Given the description of an element on the screen output the (x, y) to click on. 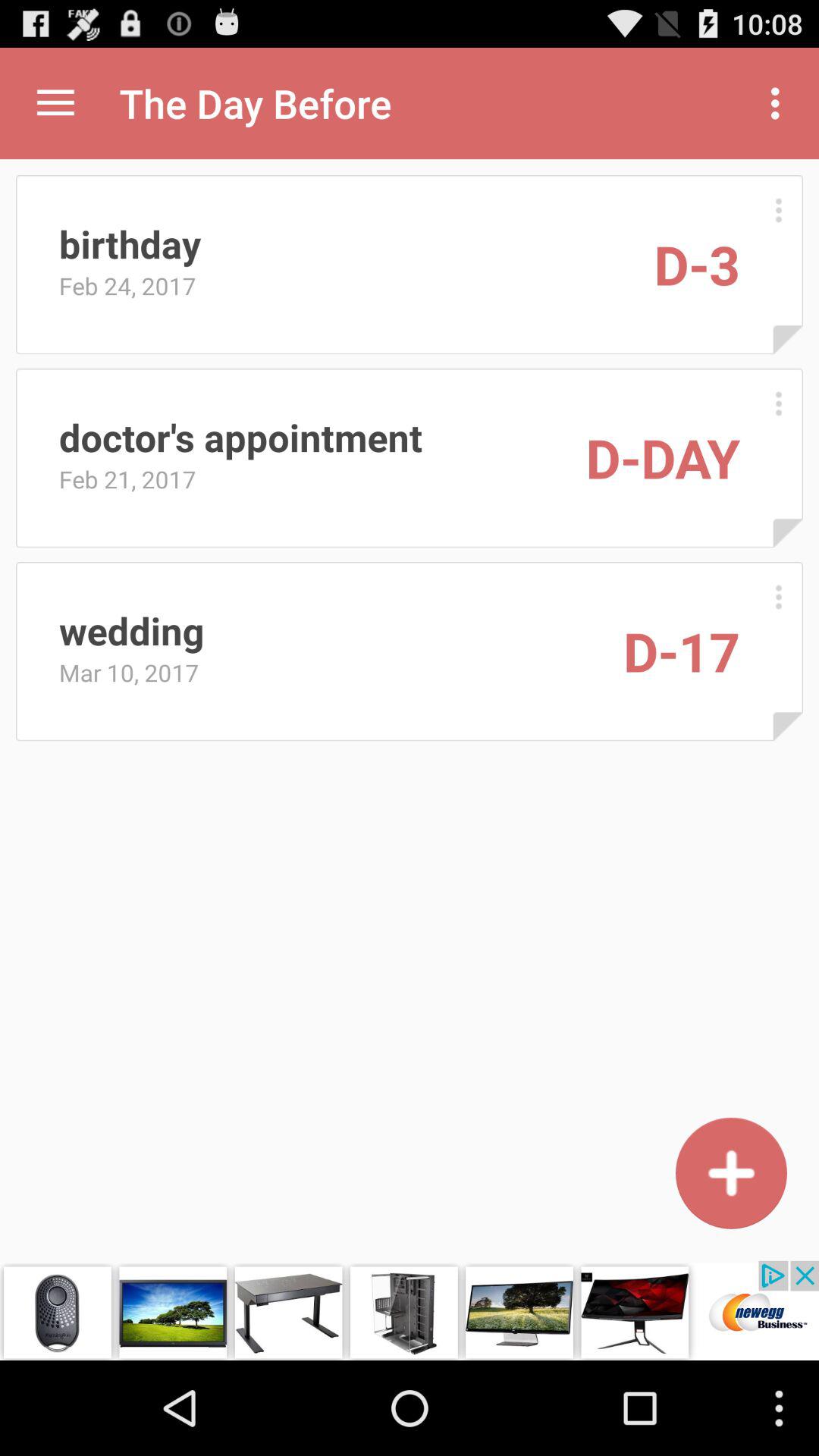
expand menu (55, 103)
